Given the description of an element on the screen output the (x, y) to click on. 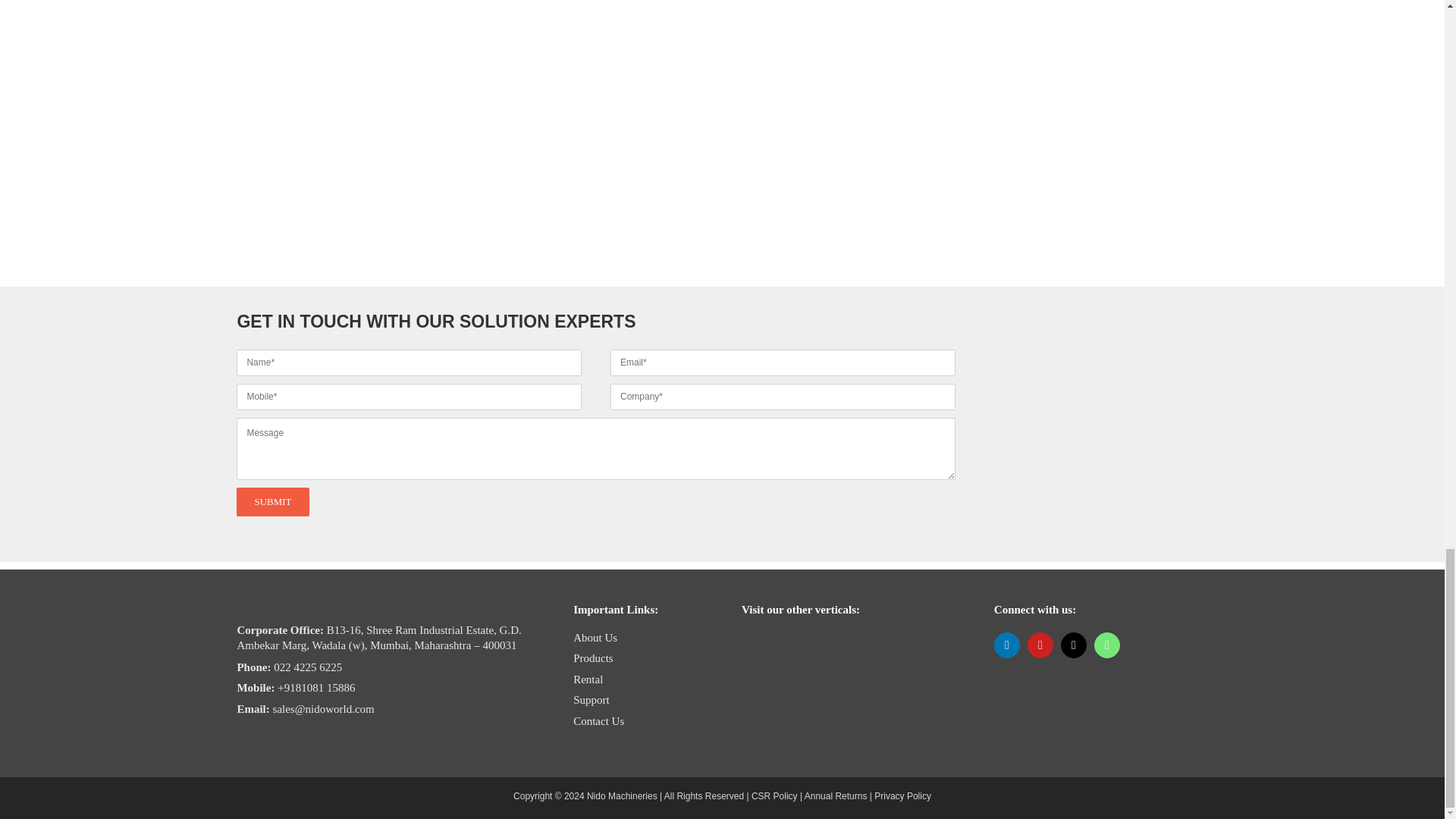
SUBMIT (595, 474)
LinkedIn (1007, 645)
YouTube (1039, 645)
YouTube video player 1 (486, 392)
X (1073, 645)
WhatsApp (1106, 645)
